Given the description of an element on the screen output the (x, y) to click on. 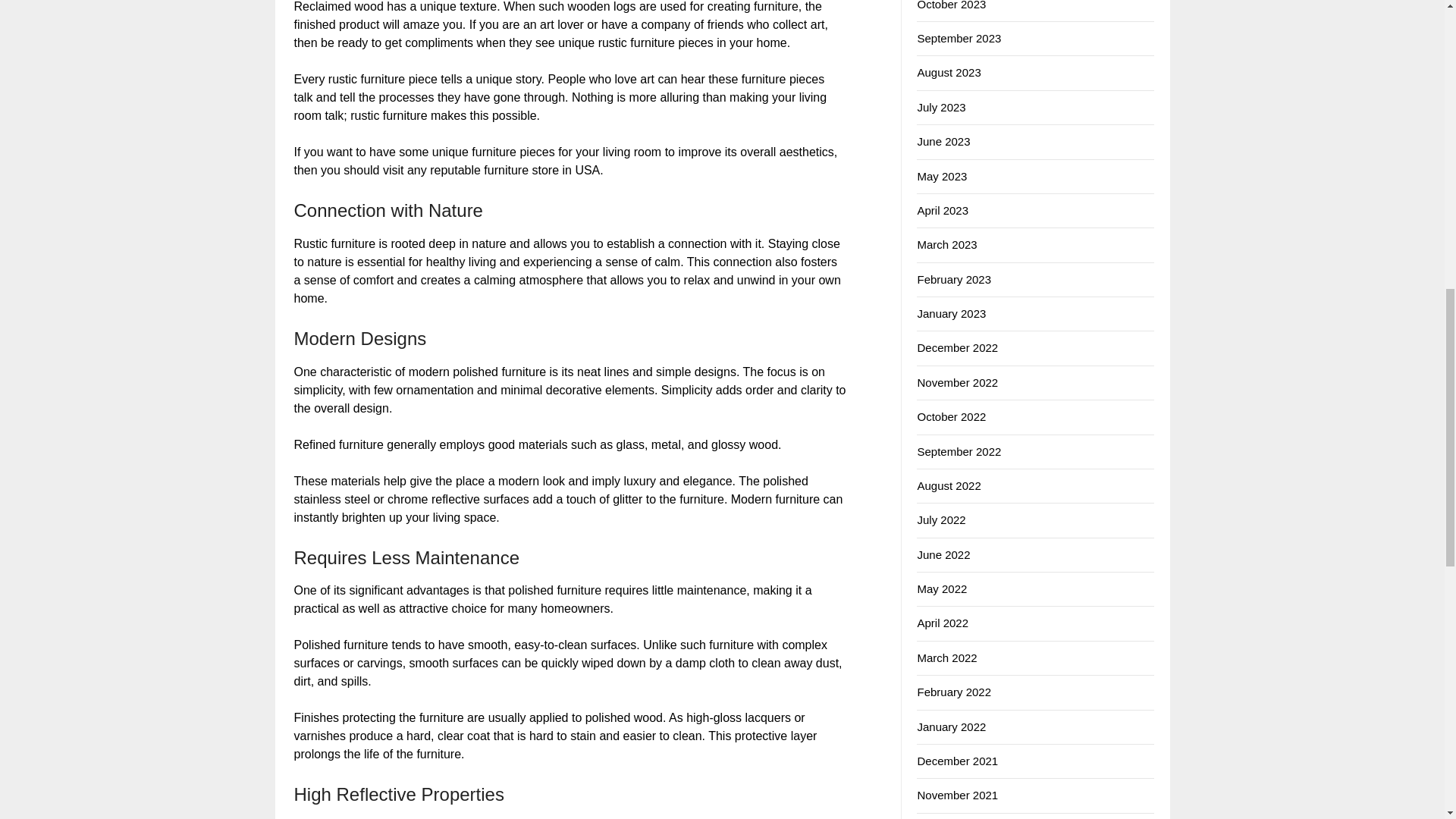
April 2023 (942, 210)
February 2023 (954, 278)
July 2023 (941, 106)
August 2023 (948, 72)
June 2023 (943, 141)
October 2023 (951, 5)
September 2023 (959, 38)
May 2023 (941, 175)
March 2023 (946, 244)
